Given the description of an element on the screen output the (x, y) to click on. 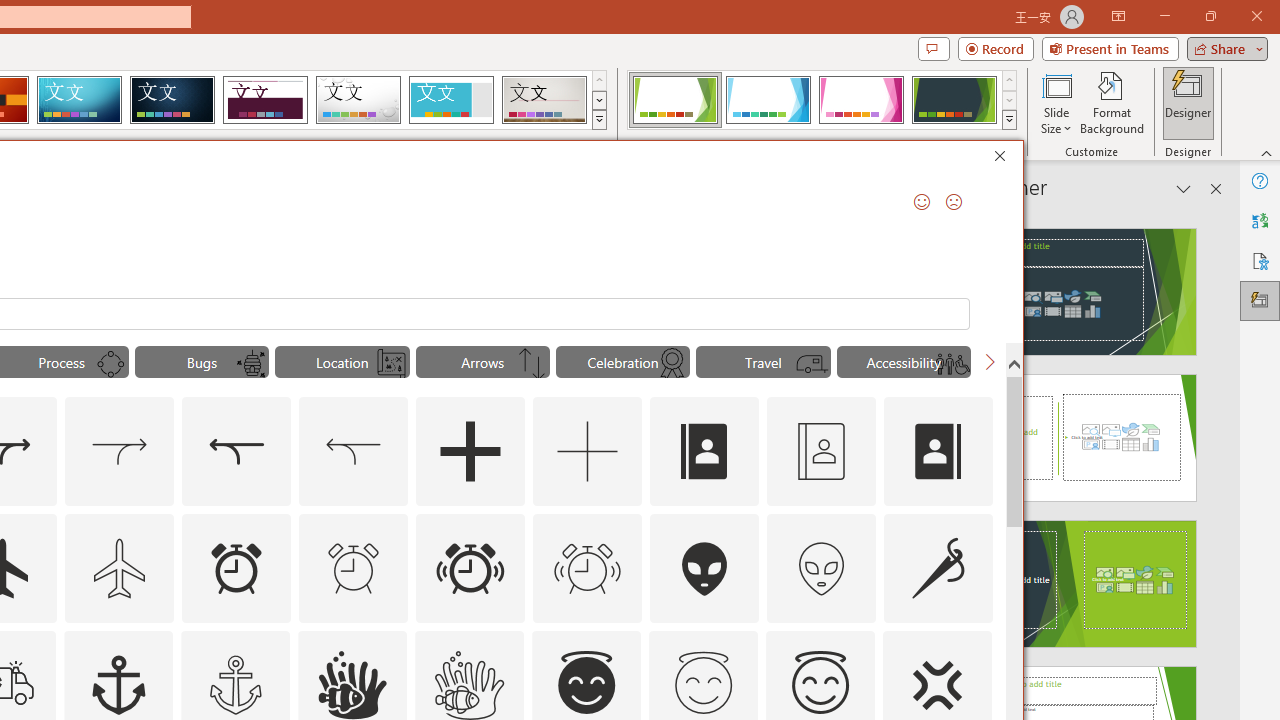
AutomationID: Icons_Ribbon_M (671, 364)
AutomationID: Icons_Acquisition_RTL_M (353, 452)
Damask (171, 100)
AutomationID: Icons_Acquisition_LTR_M (120, 452)
outline (820, 685)
"Bugs" Icons. (201, 362)
Dividend (265, 100)
